Given the description of an element on the screen output the (x, y) to click on. 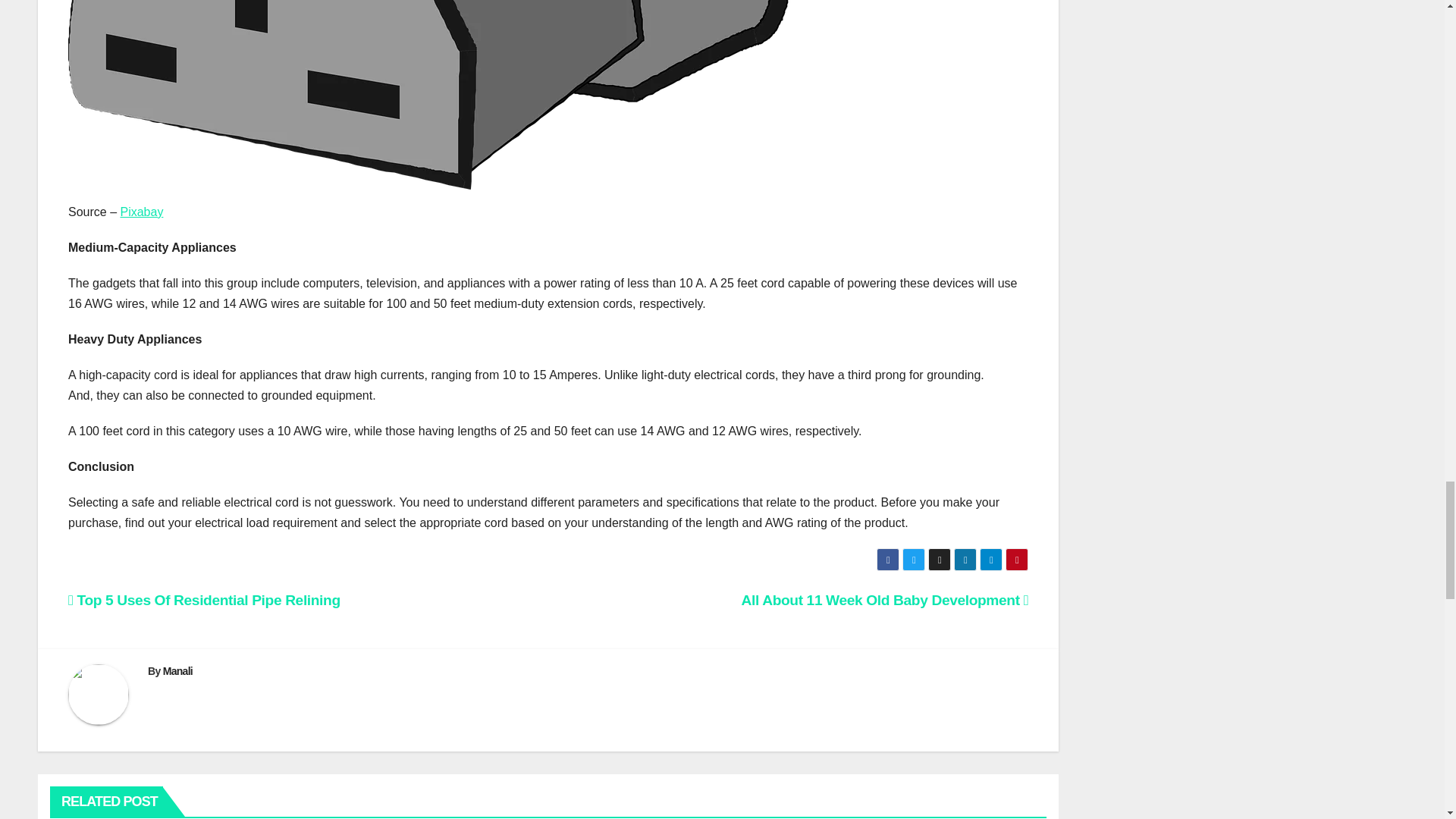
All About 11 Week Old Baby Development (885, 600)
Pixabay (141, 211)
Top 5 Uses Of Residential Pipe Relining (204, 600)
Manali (177, 671)
